Given the description of an element on the screen output the (x, y) to click on. 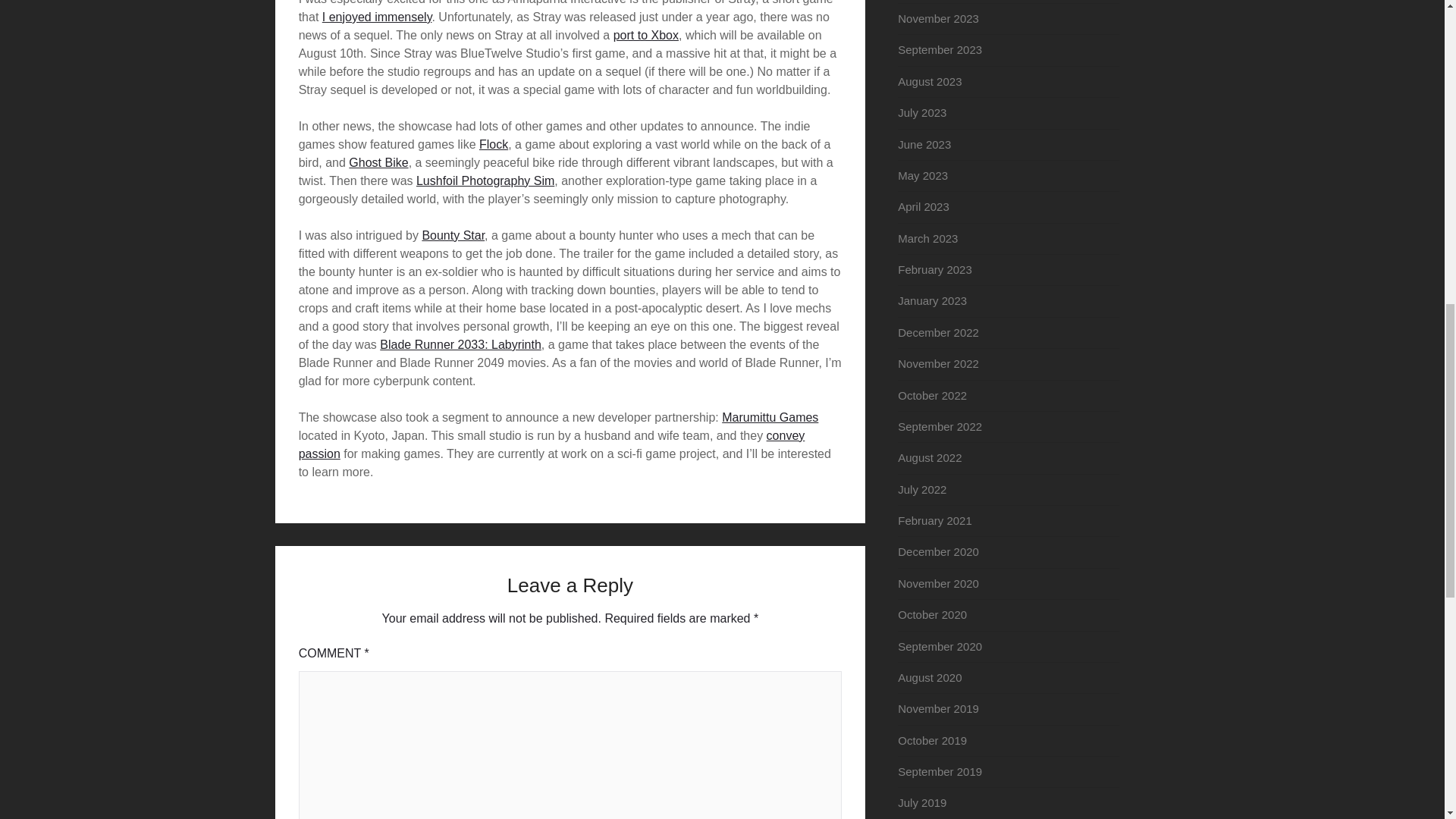
Blade Runner 2033: Labyrinth (460, 344)
convey passion (551, 444)
Marumittu Games (770, 417)
I enjoyed immensely (376, 16)
Bounty Star (453, 235)
Lushfoil Photography Sim (485, 180)
port to Xbox (645, 34)
Ghost Bike (378, 162)
Flock (493, 144)
